Given the description of an element on the screen output the (x, y) to click on. 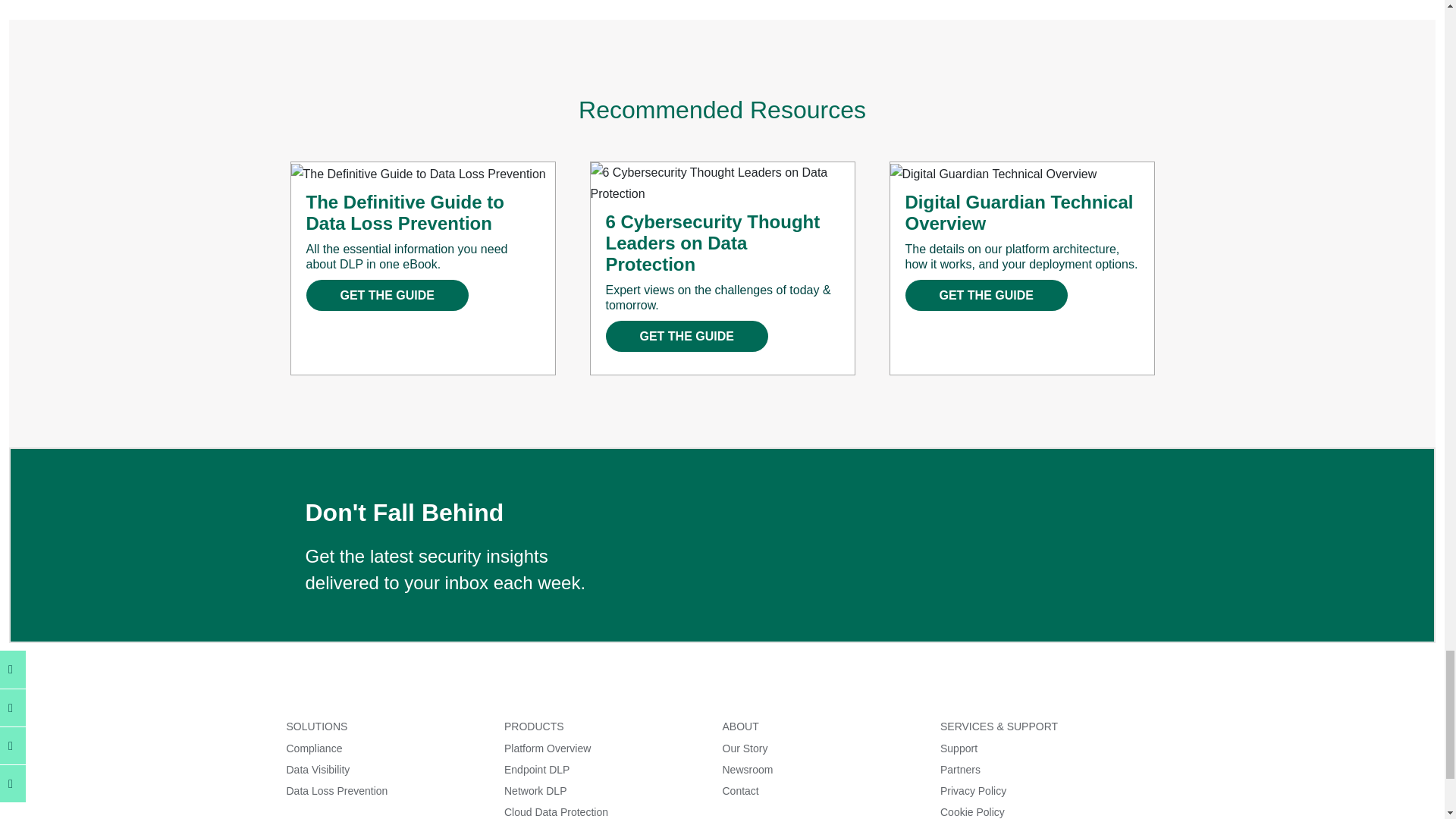
The Definitive Guide to Data Loss Prevention (418, 173)
Digital Guardian Technical Overview (993, 173)
6 Cybersecurity Thought Leaders on Data Protection (721, 182)
